Given the description of an element on the screen output the (x, y) to click on. 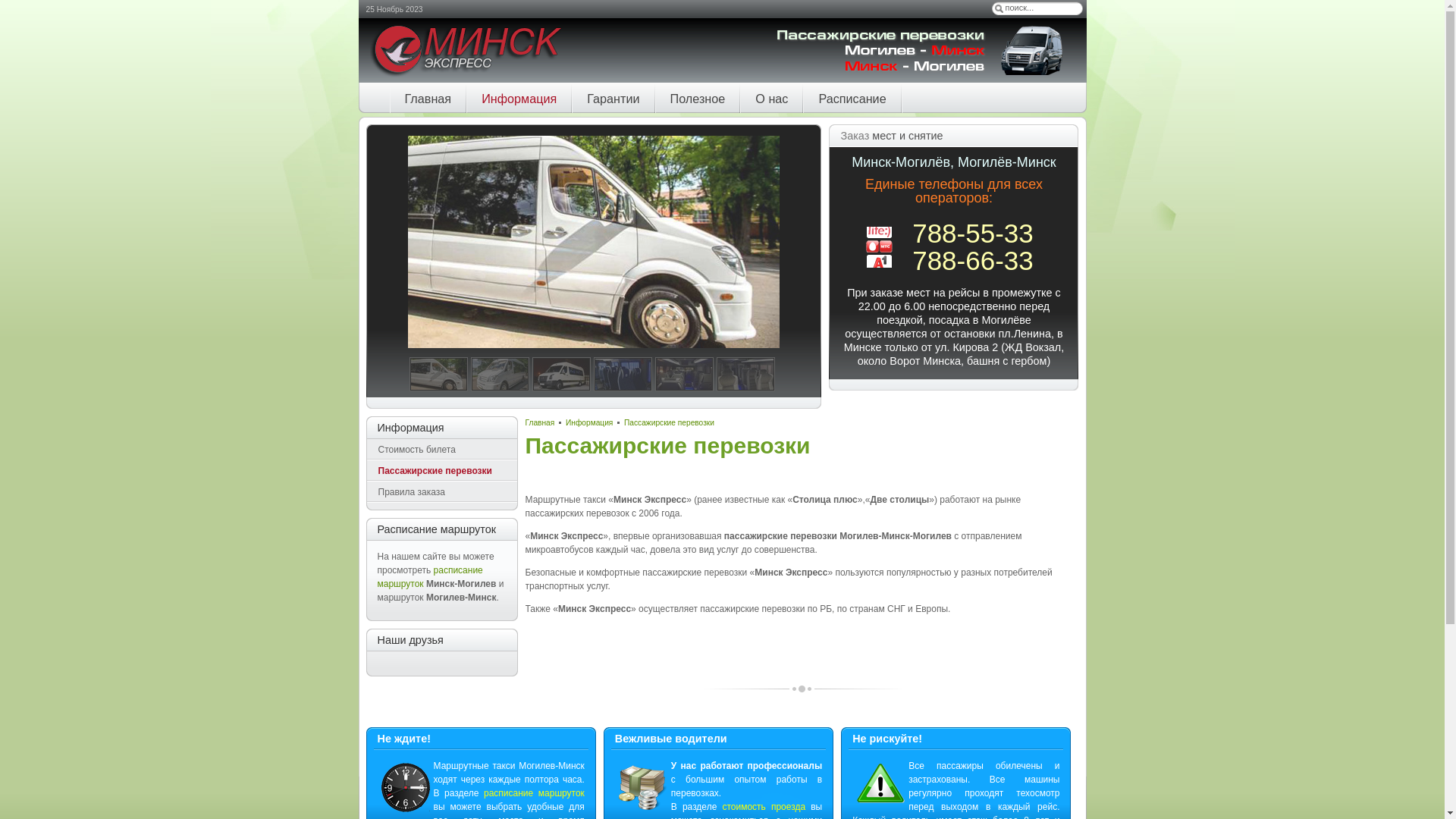
Reset Element type: text (6, 6)
788-55-33 Element type: text (972, 232)
Search Element type: text (998, 8)
788-66-33 Element type: text (972, 260)
